Given the description of an element on the screen output the (x, y) to click on. 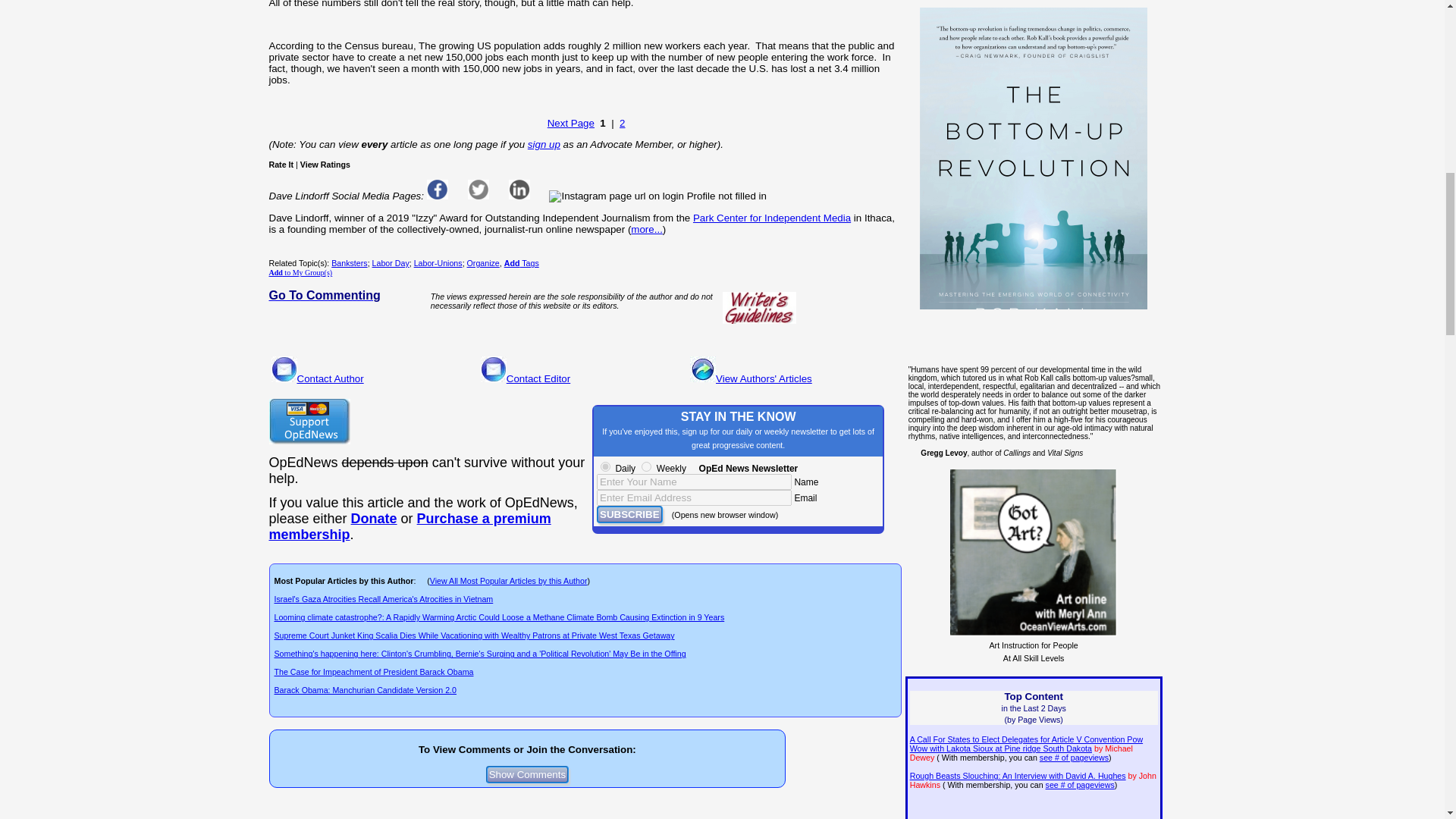
Daily (604, 466)
Labor Day (390, 262)
Instagram page url on login Profile not filled in (656, 196)
SUBSCRIBE (629, 514)
Rate It (280, 163)
Organize (483, 262)
Park Center for Independent Media (771, 217)
Enter Email Address (694, 497)
Labor-Unions (438, 262)
sign up (543, 143)
